Given the description of an element on the screen output the (x, y) to click on. 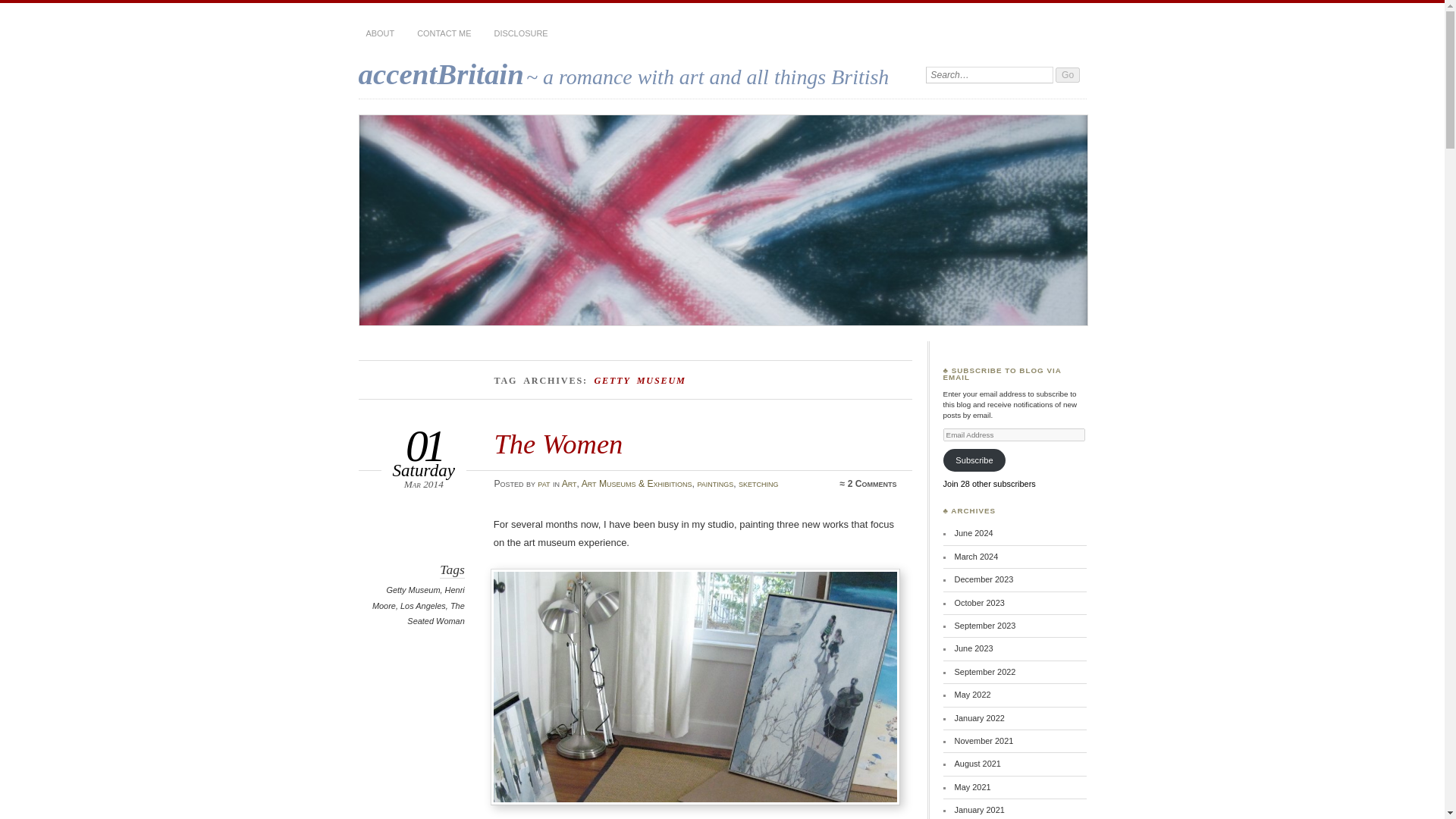
June 2024 (973, 532)
Go (1067, 74)
September 2023 (985, 624)
CONTACT ME (444, 33)
accentBritain (440, 73)
August 2021 (978, 763)
Henri Moore (418, 597)
Getty Museum (412, 589)
Permalink to The Women (558, 443)
March 2024 (976, 556)
January 2022 (979, 717)
accentBritain (440, 73)
May 2022 (973, 694)
pat (543, 483)
